Given the description of an element on the screen output the (x, y) to click on. 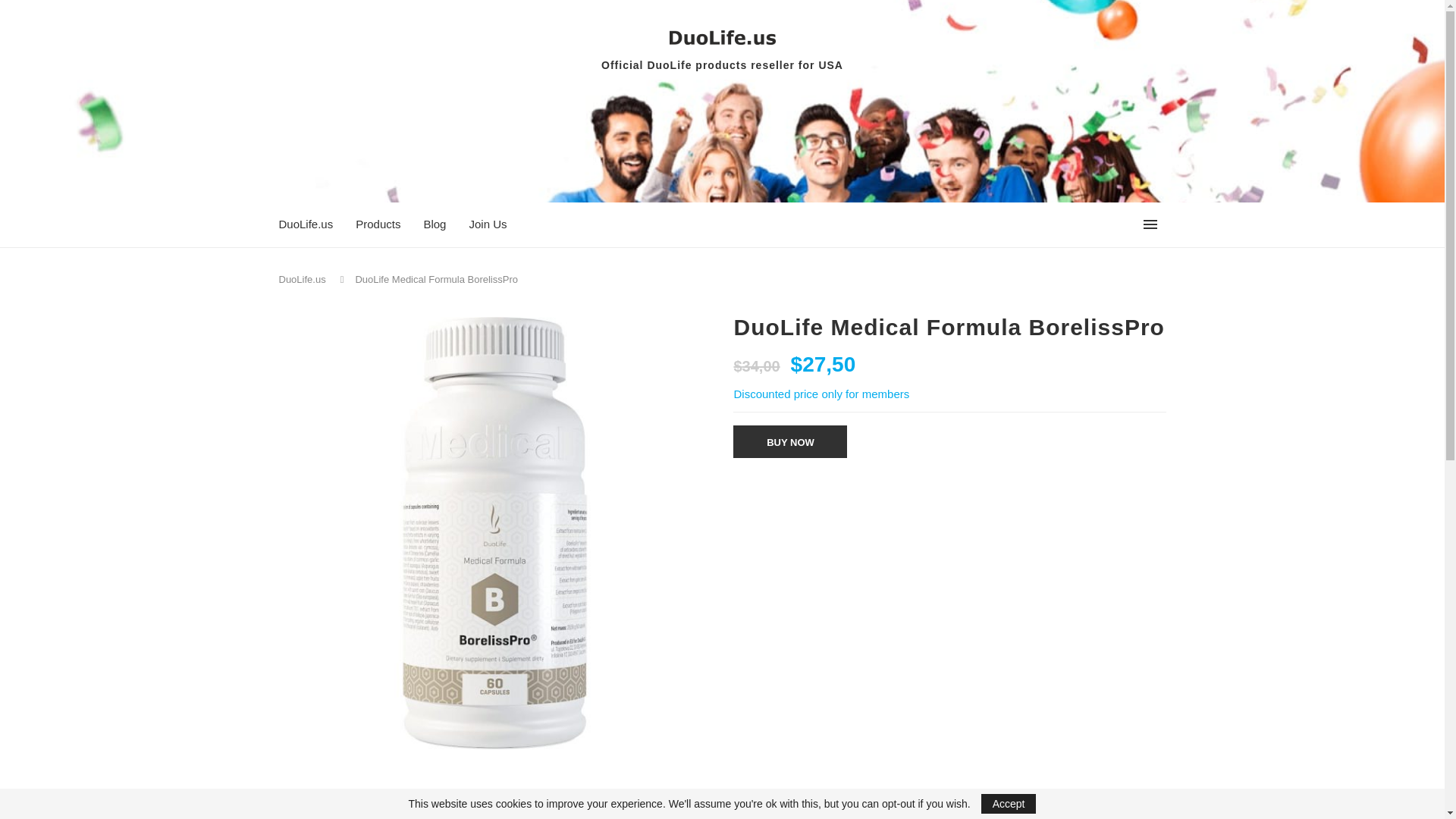
DuoLife.us (306, 224)
Products (377, 224)
DuoLife.us (302, 279)
BUY NOW (790, 441)
